Given the description of an element on the screen output the (x, y) to click on. 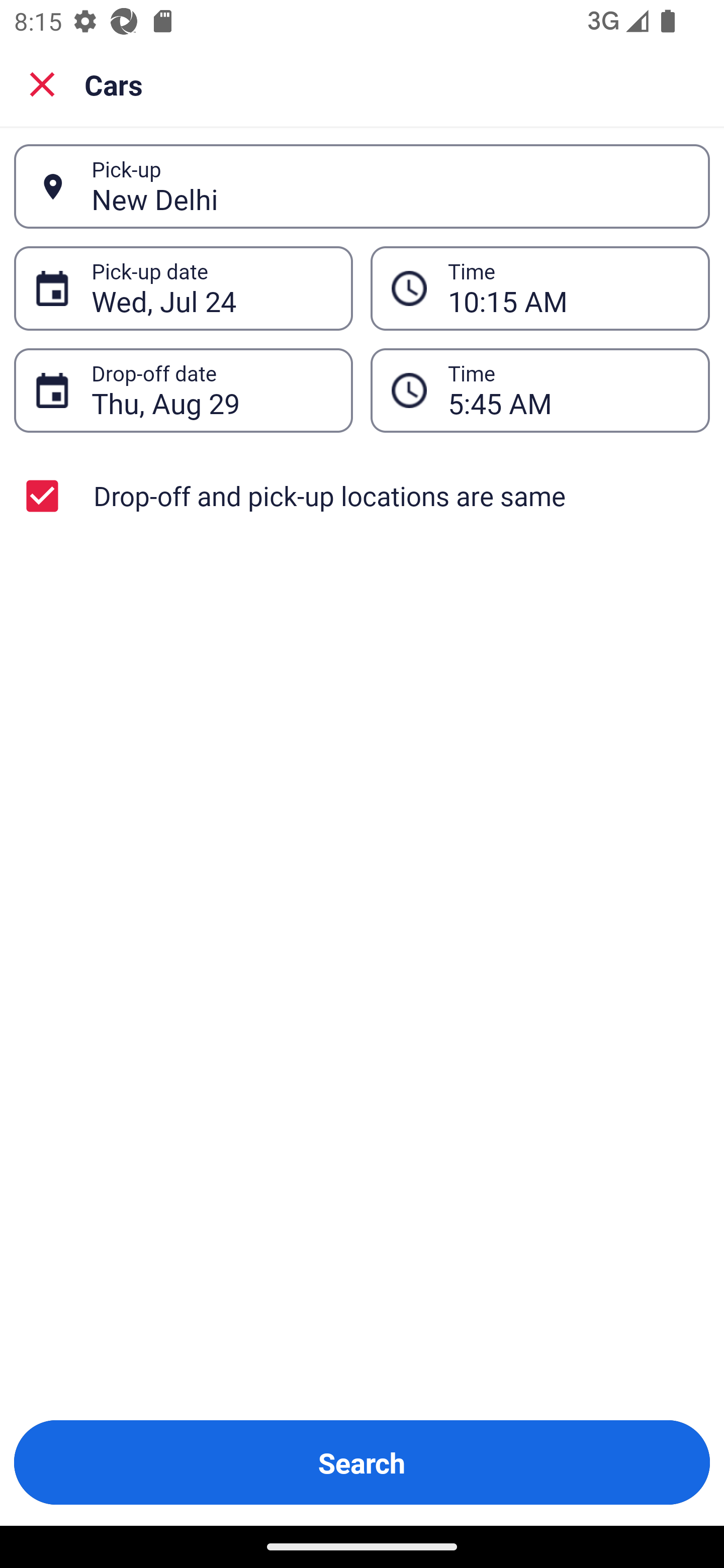
Close search screen (41, 83)
New Delhi Pick-up (361, 186)
New Delhi (389, 186)
Wed, Jul 24 Pick-up date (183, 288)
10:15 AM (540, 288)
Wed, Jul 24 (211, 288)
10:15 AM (568, 288)
Thu, Aug 29 Drop-off date (183, 390)
5:45 AM (540, 390)
Thu, Aug 29 (211, 390)
5:45 AM (568, 390)
Drop-off and pick-up locations are same (361, 495)
Search Button Search (361, 1462)
